Given the description of an element on the screen output the (x, y) to click on. 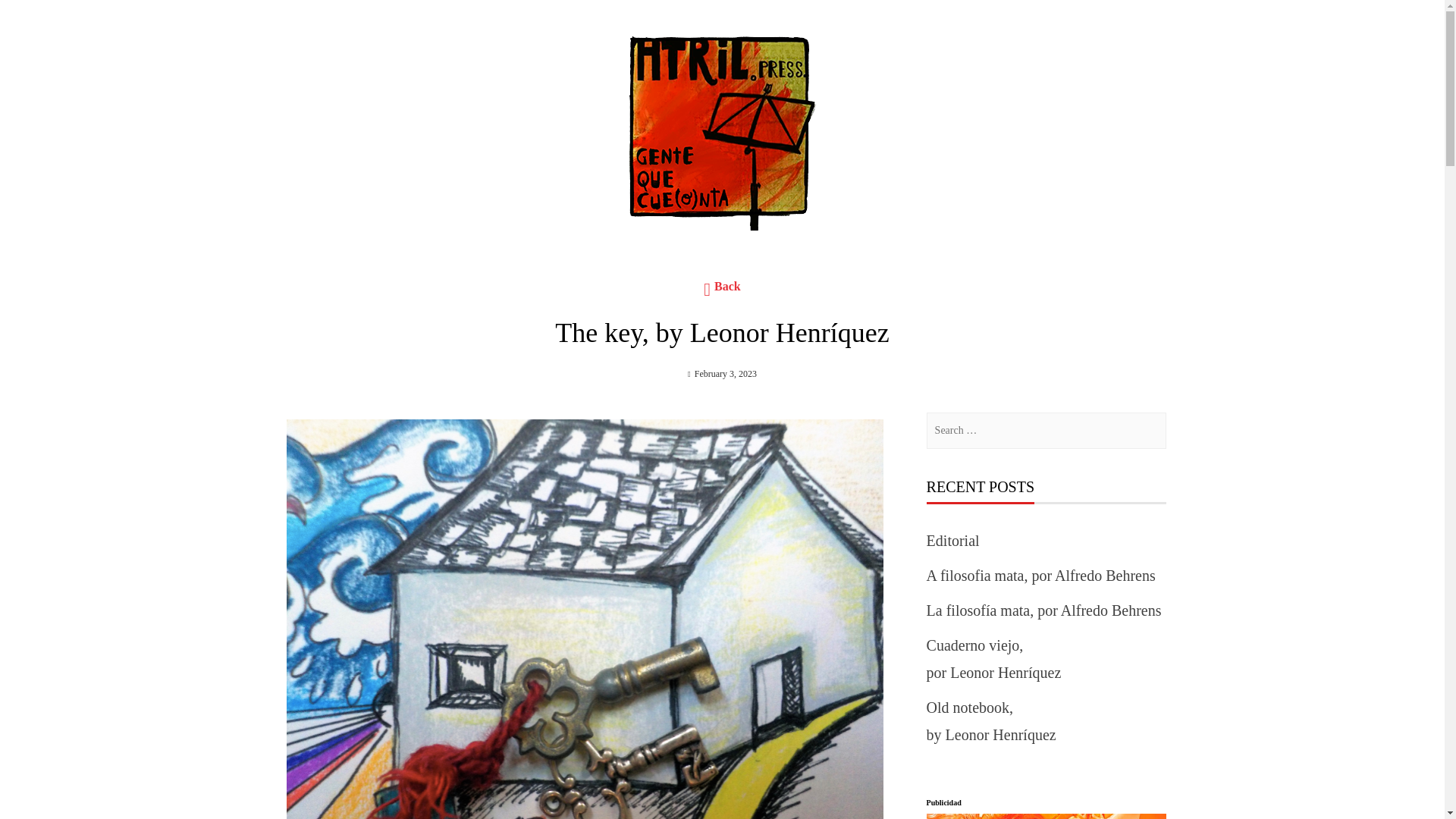
Editorial (952, 540)
A filosofia mata, por Alfredo Behrens (1041, 575)
Back (721, 289)
Search (29, 17)
